Given the description of an element on the screen output the (x, y) to click on. 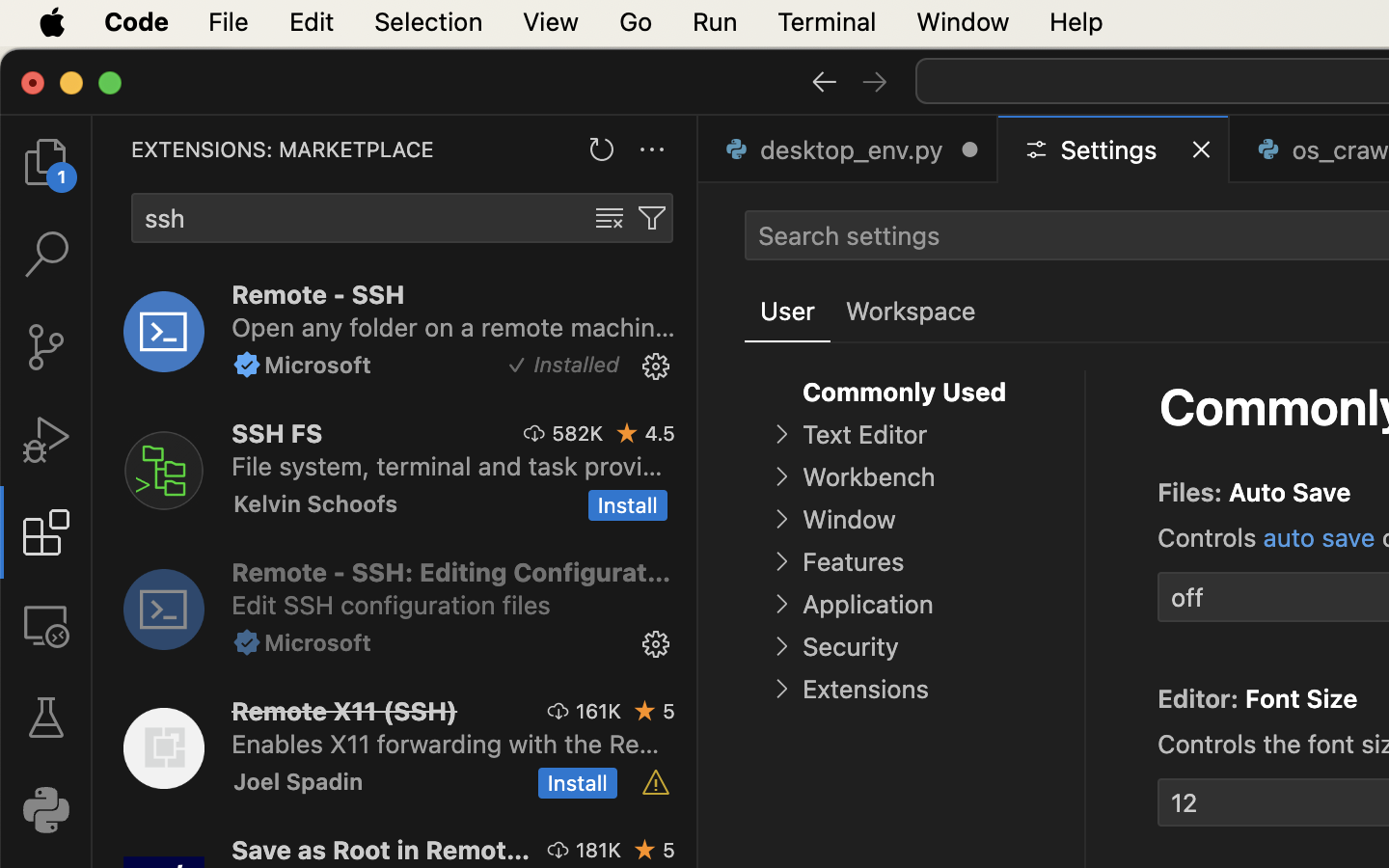
Editor: Element type: AXStaticText (1201, 698)
0 Element type: AXRadioButton (910, 311)
File system, terminal and task provider using SSH Element type: AXStaticText (447, 465)
Auto Save Element type: AXStaticText (1290, 492)
582K Element type: AXStaticText (577, 432)
